Given the description of an element on the screen output the (x, y) to click on. 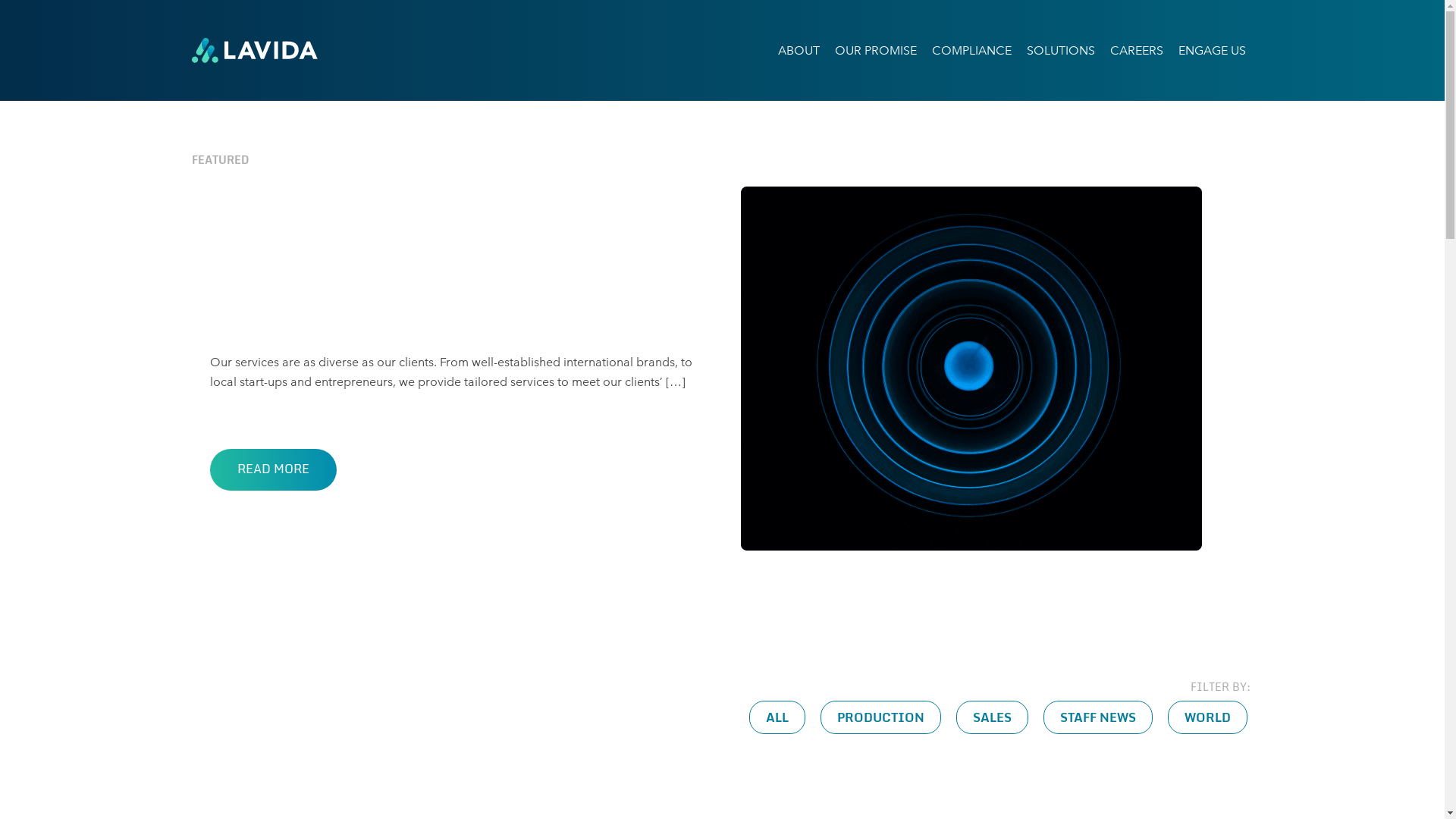
CAREERS Element type: text (1136, 50)
ABOUT Element type: text (798, 50)
OUR PROMISE Element type: text (874, 50)
COMPLIANCE Element type: text (970, 50)
READ MORE Element type: text (272, 469)
SOLUTIONS Element type: text (1060, 50)
ENGAGE US Element type: text (1211, 50)
